Given the description of an element on the screen output the (x, y) to click on. 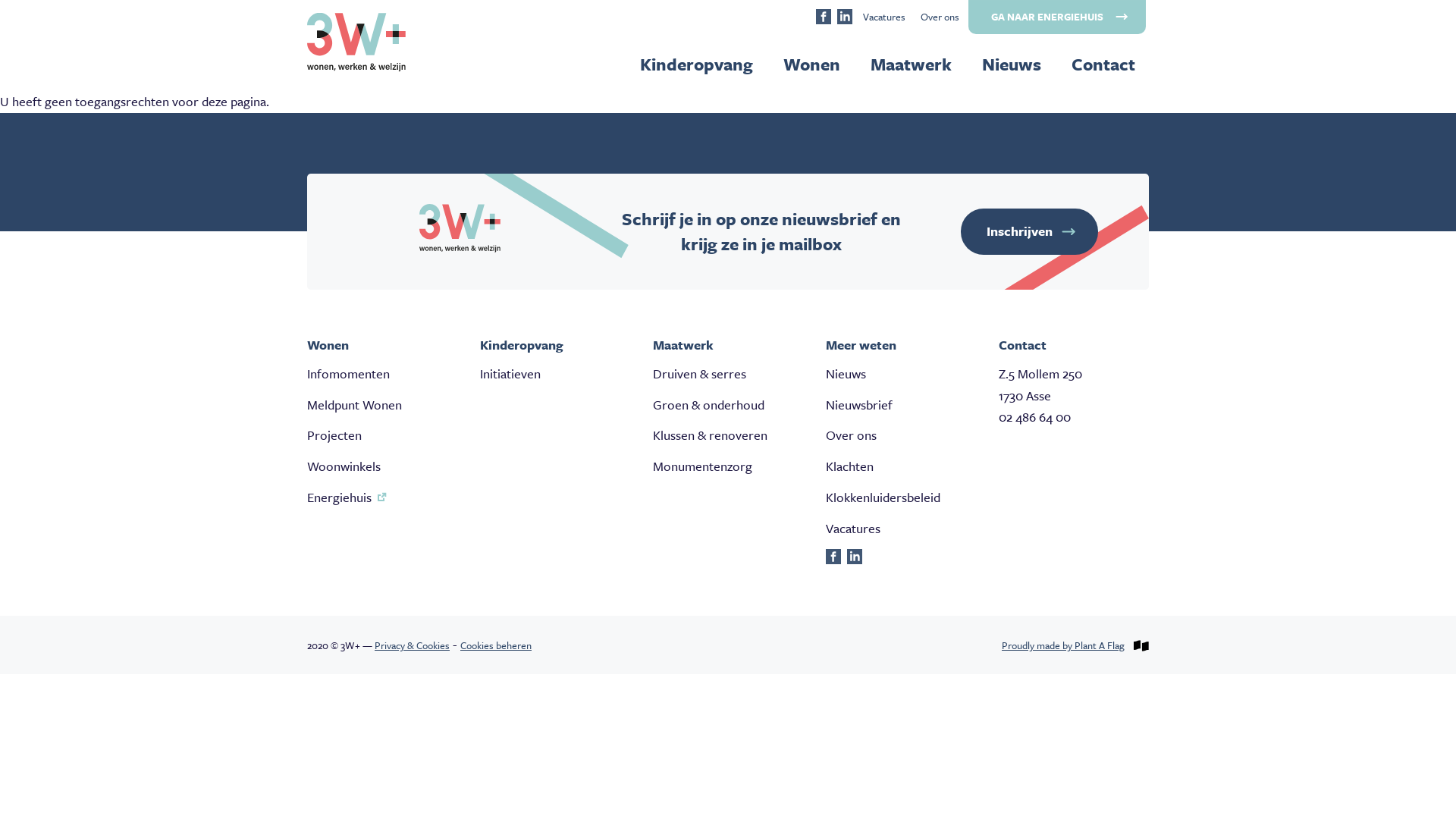
Overslaan en naar de inhoud gaan Element type: text (0, 0)
Kinderopvang Element type: text (696, 63)
Vacatures Element type: text (852, 527)
Initiatieven Element type: text (510, 373)
Infomomenten Element type: text (348, 373)
Contact Element type: text (1103, 63)
Nieuwsbrief Element type: text (858, 404)
Wonen Element type: text (811, 63)
Shape Created with Sketch. Element type: text (832, 560)
Proudly made by Plant A Flag Element type: text (1062, 645)
02 486 64 00 Element type: text (1034, 416)
Maatwerk Element type: text (910, 63)
Cookies beheren Element type: text (495, 644)
Woonwinkels Element type: text (343, 465)
Projecten Element type: text (334, 434)
Over ons Element type: text (850, 434)
Druiven & serres Element type: text (699, 373)
Meldpunt Wonen Element type: text (354, 404)
Groen & onderhoud Element type: text (708, 404)
Over ons Element type: text (939, 16)
Shape Created with Sketch. Element type: text (854, 560)
Monumentenzorg Element type: text (702, 465)
Nieuws Element type: text (1011, 63)
Energiehuis Element type: text (339, 496)
GA NAAR ENERGIEHUIS Element type: text (1056, 17)
Klokkenluidersbeleid Element type: text (882, 496)
Nieuws Element type: text (845, 373)
Vacatures Element type: text (883, 16)
Klussen & renoveren Element type: text (709, 434)
Shape Created with Sketch. Element type: text (823, 18)
Shape Created with Sketch. Element type: text (844, 18)
Inschrijven Element type: text (1029, 231)
Privacy & Cookies Element type: text (411, 644)
Klachten Element type: text (849, 465)
